Given the description of an element on the screen output the (x, y) to click on. 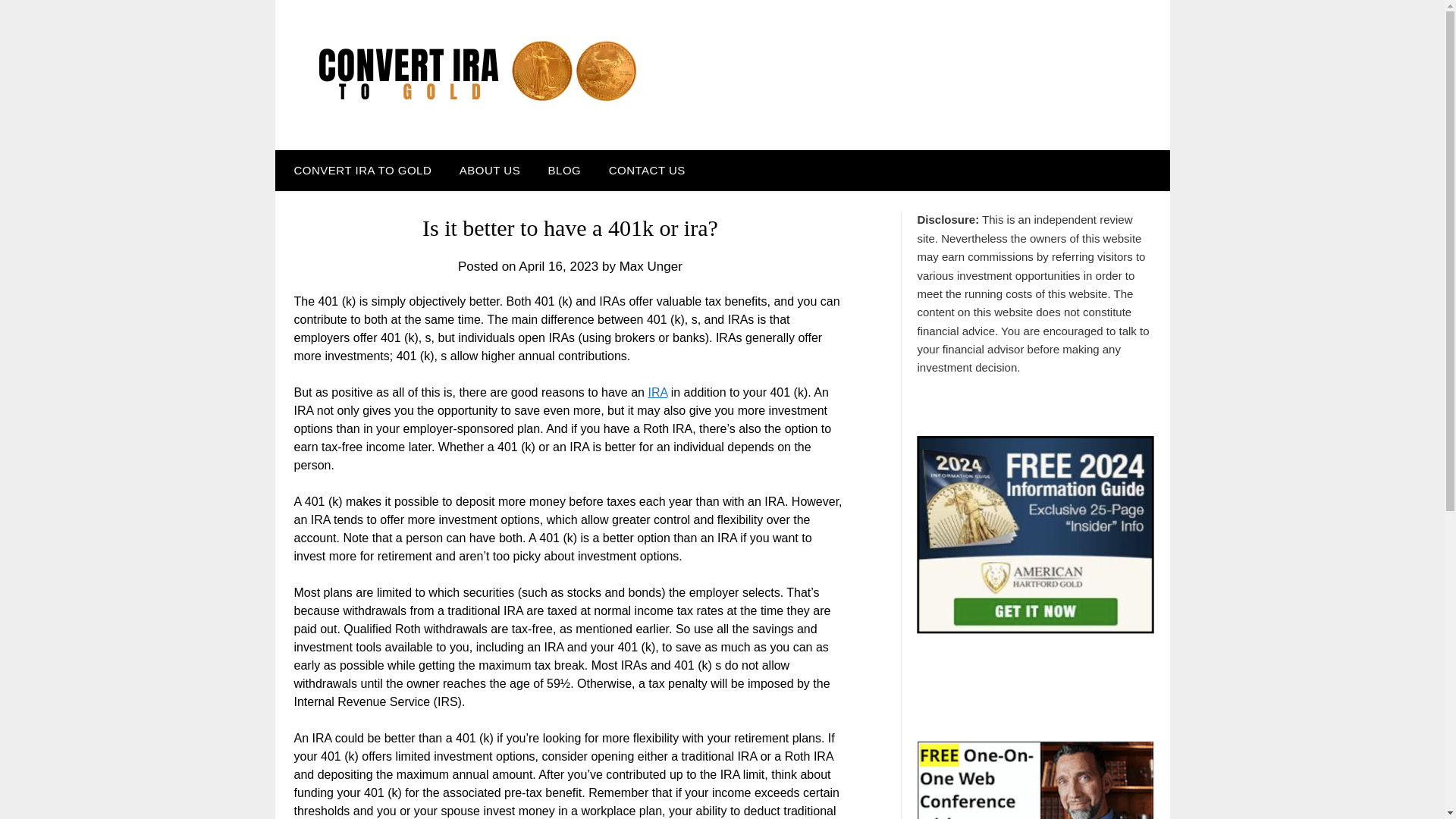
CONTACT US (646, 169)
IRA (656, 391)
ABOUT US (489, 169)
Max Unger (651, 266)
April 16, 2023 (558, 266)
CONVERT IRA TO GOLD (359, 169)
BLOG (564, 169)
